Given the description of an element on the screen output the (x, y) to click on. 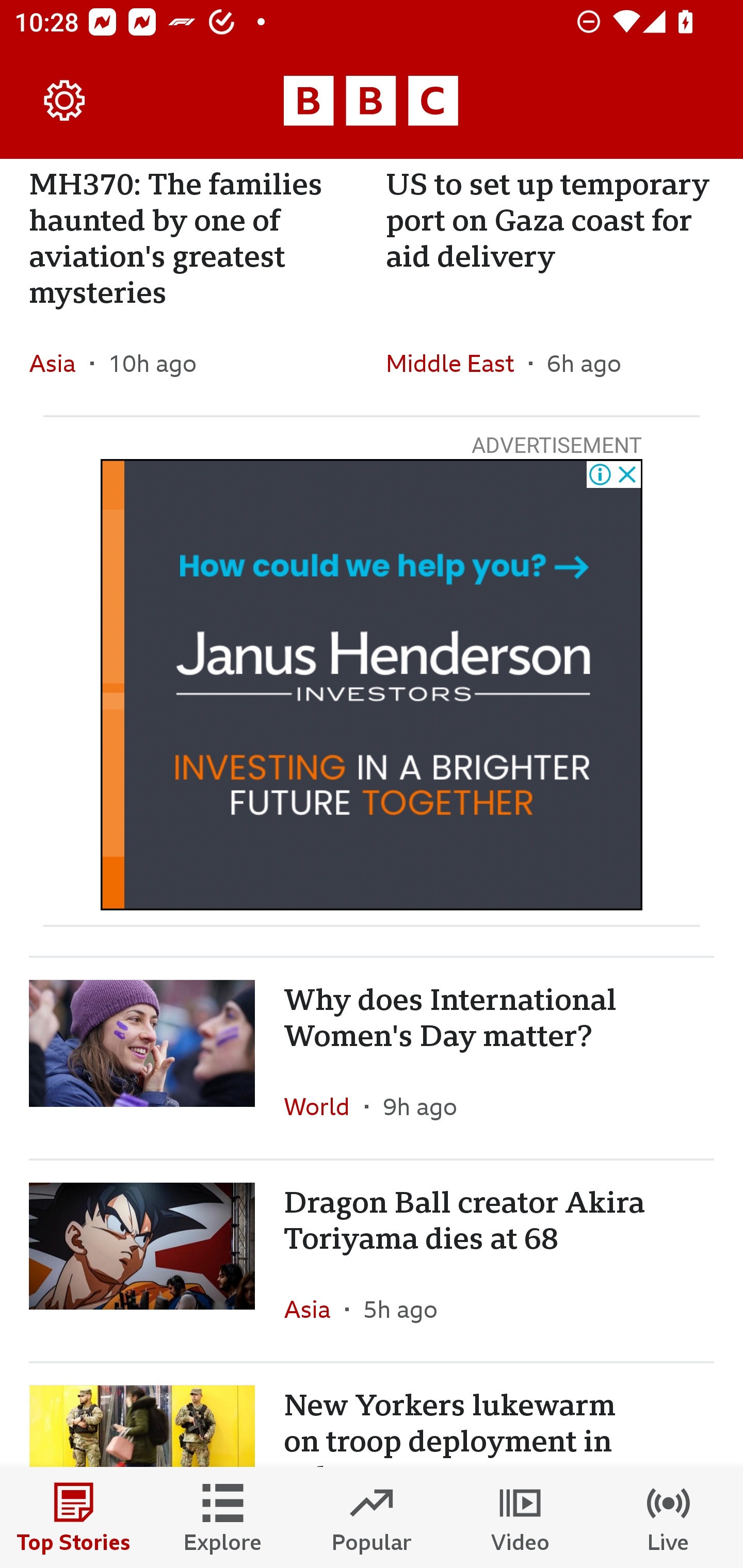
Settings (64, 100)
Asia In the section Asia (59, 362)
Middle East In the section Middle East (457, 362)
World In the section World (323, 1105)
Asia In the section Asia (314, 1309)
New Yorkers lukewarm on troop deployment in subway (371, 1414)
Explore (222, 1517)
Popular (371, 1517)
Video (519, 1517)
Live (668, 1517)
